Given the description of an element on the screen output the (x, y) to click on. 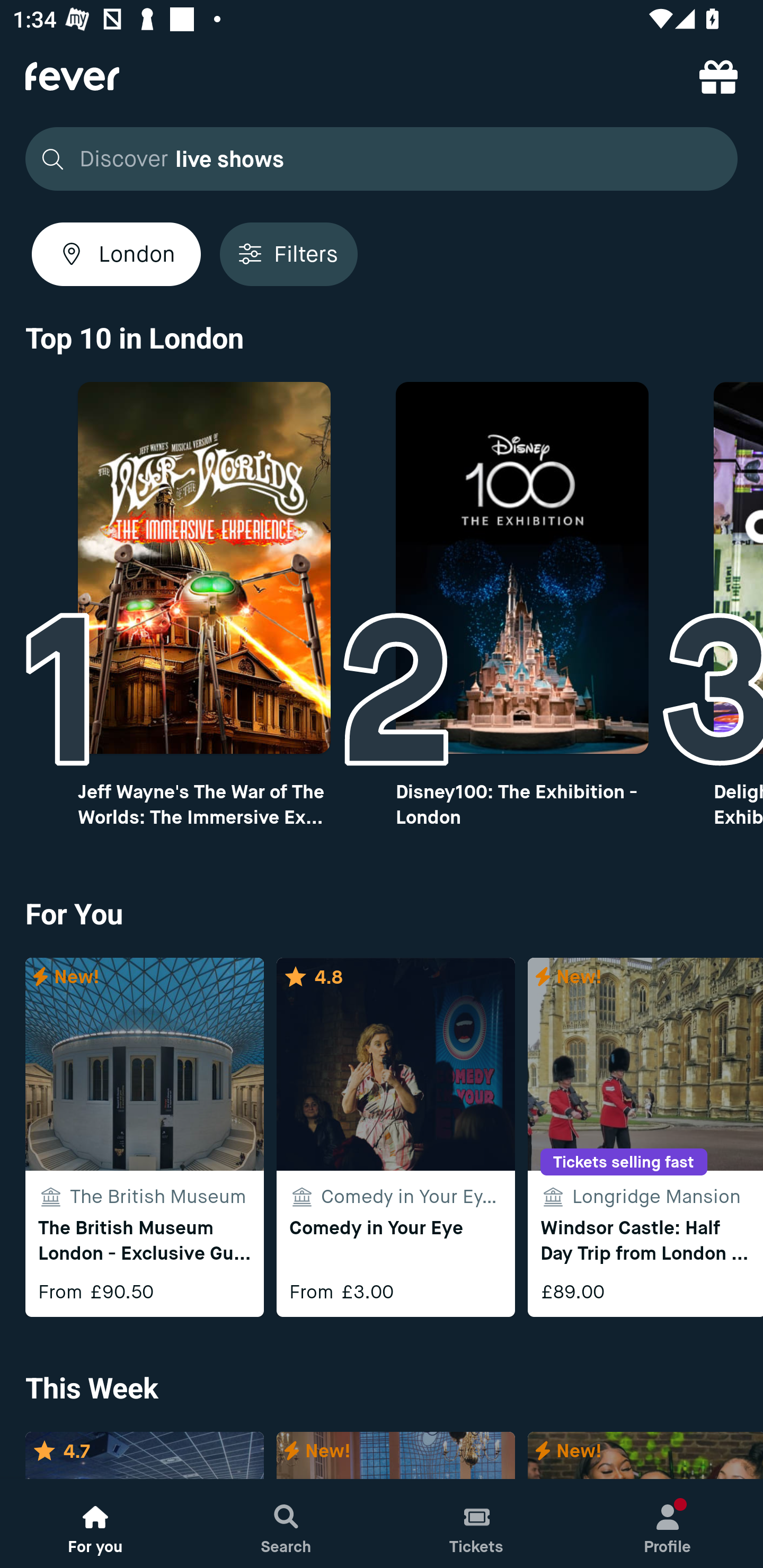
referral (718, 75)
Discover live shows (381, 158)
Discover live shows (376, 158)
London (116, 253)
Filters (288, 253)
Top10 image (203, 568)
Top10 image (521, 568)
Search (285, 1523)
Tickets (476, 1523)
Profile, New notification Profile (667, 1523)
